Given the description of an element on the screen output the (x, y) to click on. 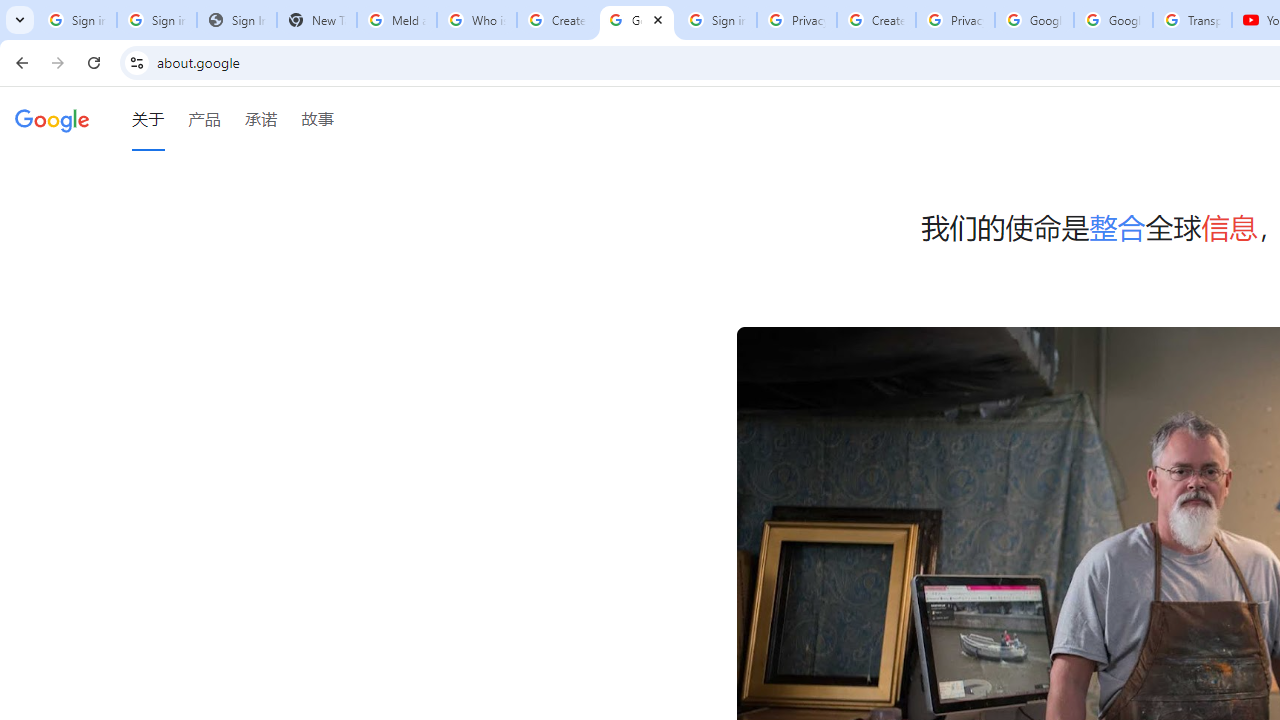
Sign in - Google Accounts (156, 20)
Who is my administrator? - Google Account Help (476, 20)
Sign In - USA TODAY (236, 20)
Create your Google Account (556, 20)
New Tab (316, 20)
Google Account (1113, 20)
Sign in - Google Accounts (76, 20)
